Given the description of an element on the screen output the (x, y) to click on. 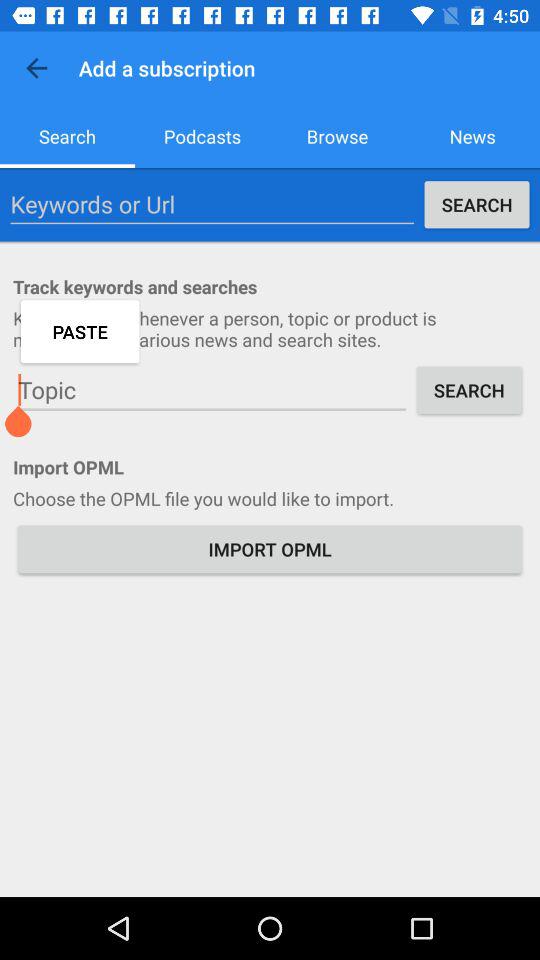
press the icon next to search item (202, 136)
